Given the description of an element on the screen output the (x, y) to click on. 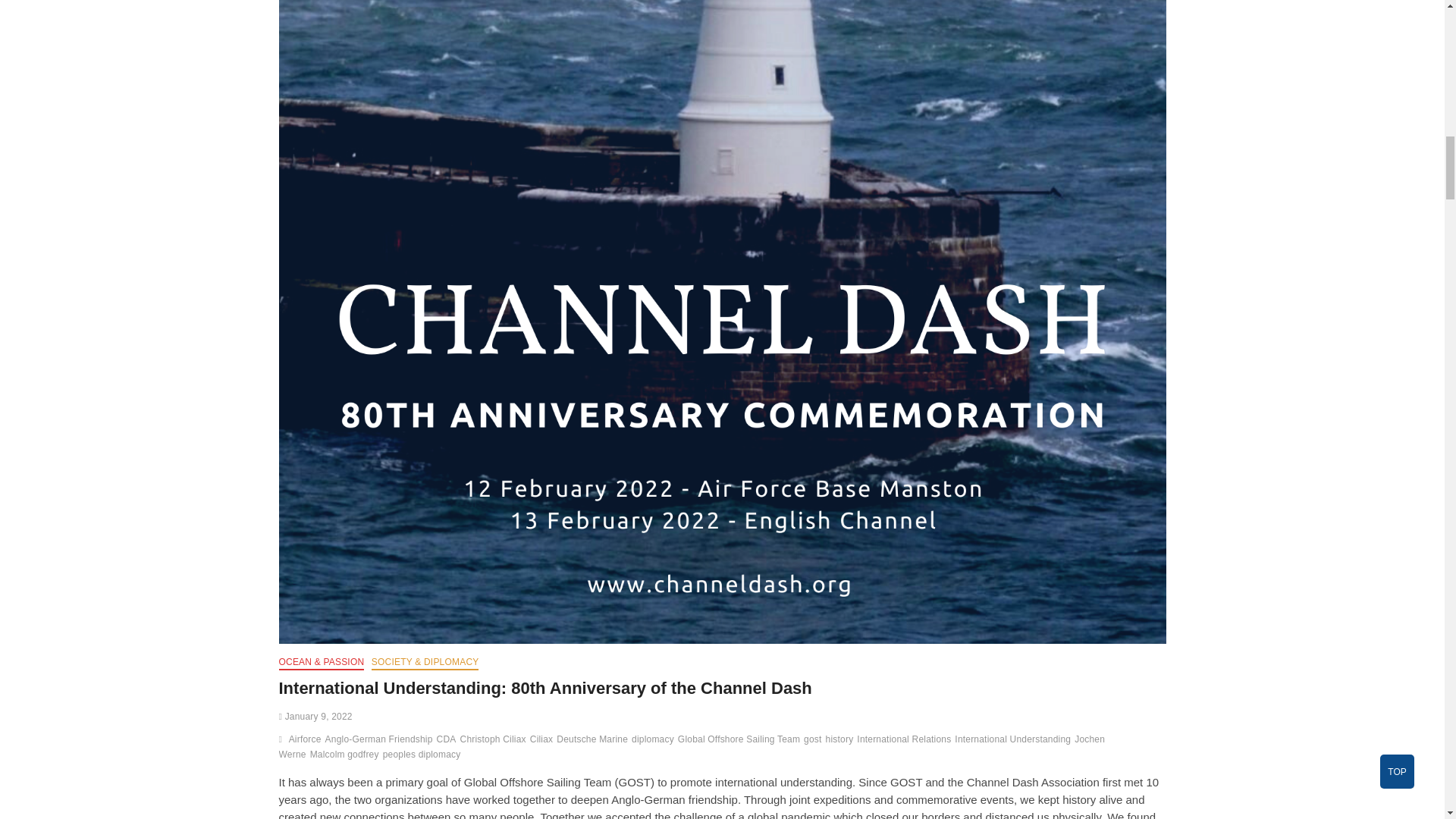
Airforce (306, 740)
January 9, 2022 (315, 716)
Ciliax (543, 740)
Deutsche Marine (593, 740)
diplomacy (654, 740)
Anglo-German Friendship (380, 740)
Global Offshore Sailing Team (740, 740)
Christoph Ciliax (494, 740)
gost (814, 740)
CDA (448, 740)
